Given the description of an element on the screen output the (x, y) to click on. 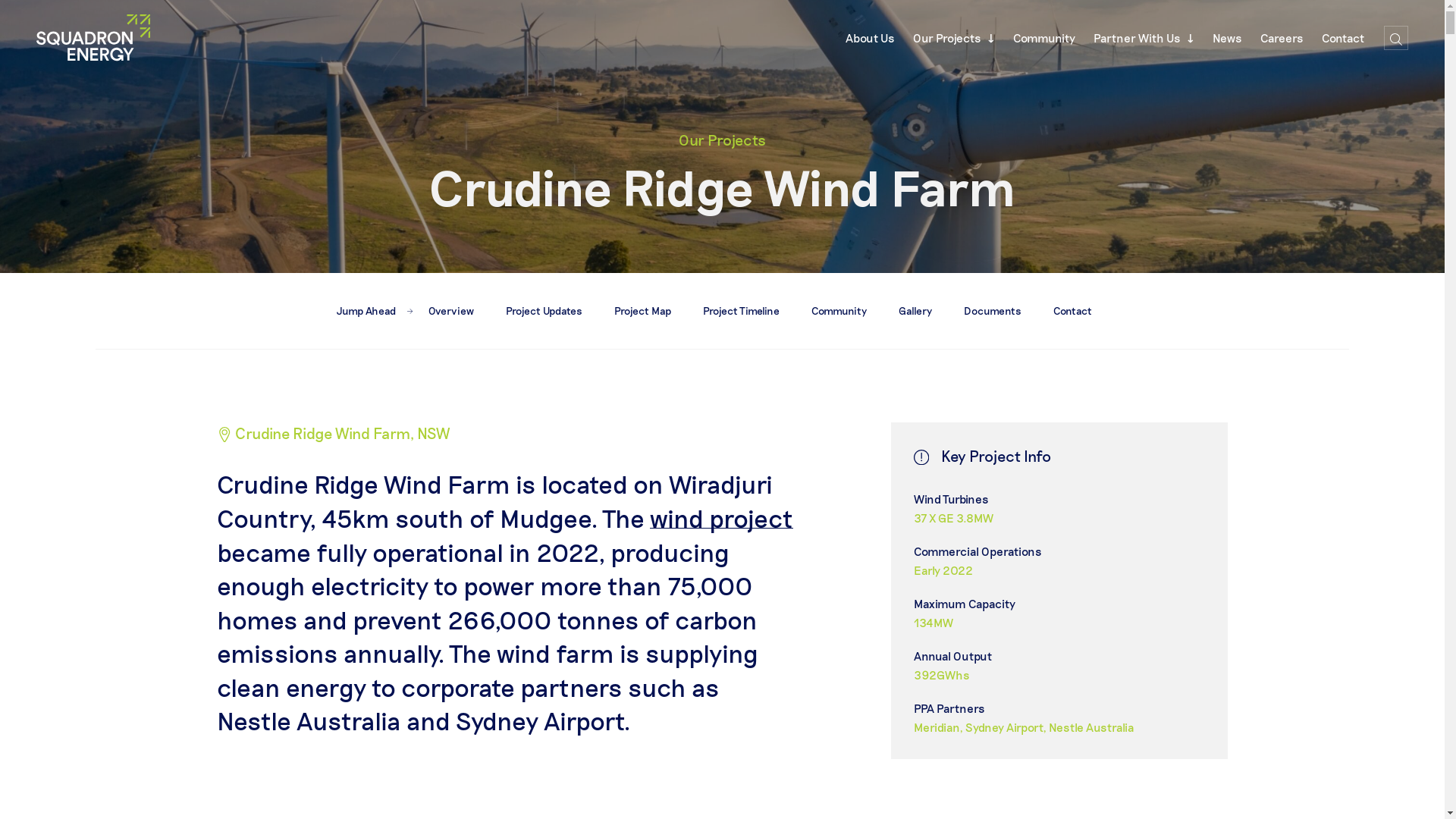
Project Updates Element type: text (543, 310)
Gallery Element type: text (914, 310)
Project Timeline Element type: text (741, 310)
Project Map Element type: text (642, 310)
Documents Element type: text (992, 310)
wind project Element type: text (721, 517)
Contact Element type: text (1342, 37)
Partner With Us Element type: text (1143, 37)
Our Projects Element type: text (953, 37)
Contact Element type: text (1072, 310)
Overview Element type: text (450, 310)
Jump Ahead Element type: text (374, 310)
News Element type: text (1227, 37)
Community Element type: text (838, 310)
Careers Element type: text (1281, 37)
About Us Element type: text (869, 37)
Community Element type: text (1044, 37)
